Given the description of an element on the screen output the (x, y) to click on. 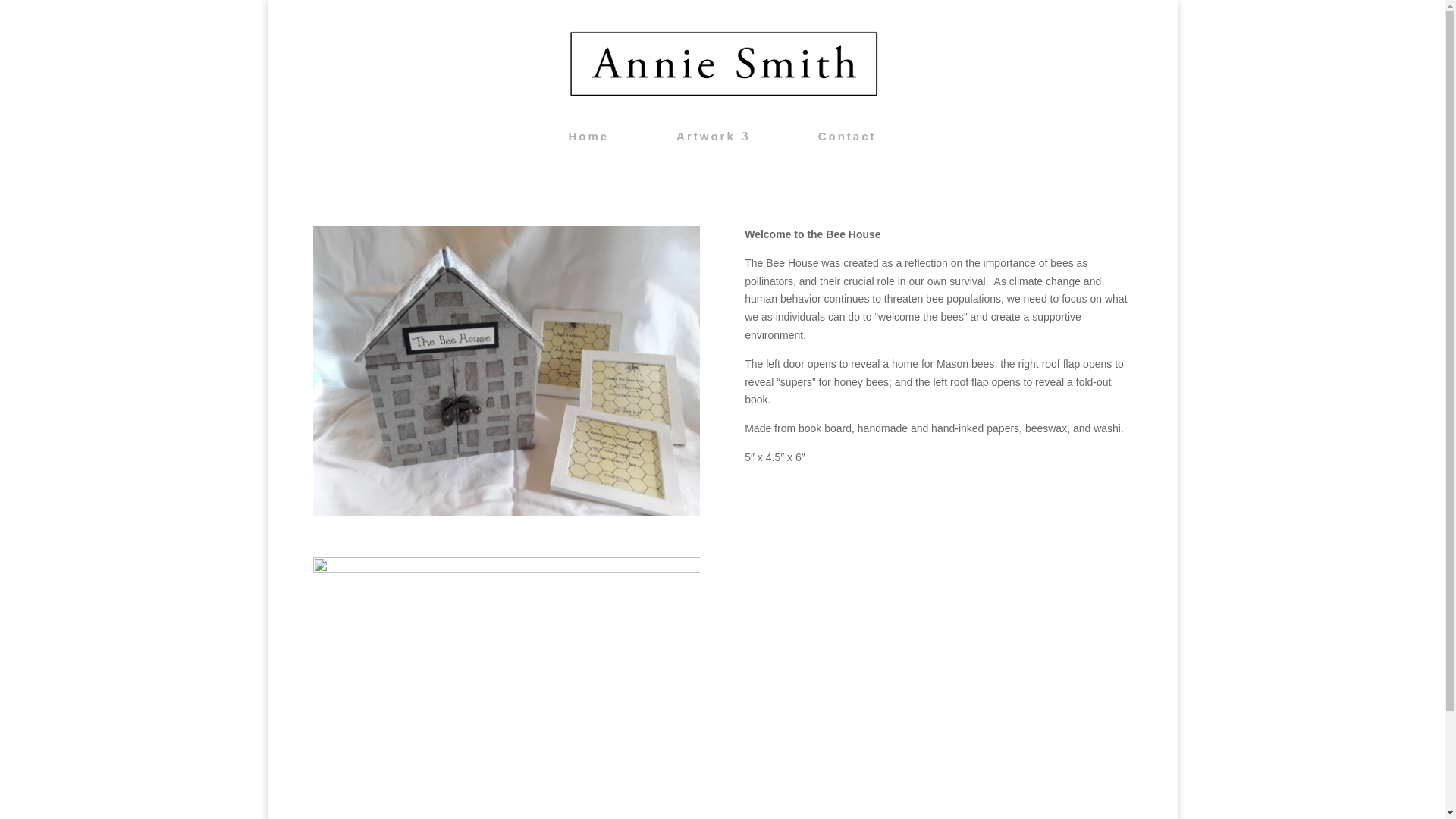
Home (589, 147)
Contact (847, 147)
Artwork (714, 147)
